Given the description of an element on the screen output the (x, y) to click on. 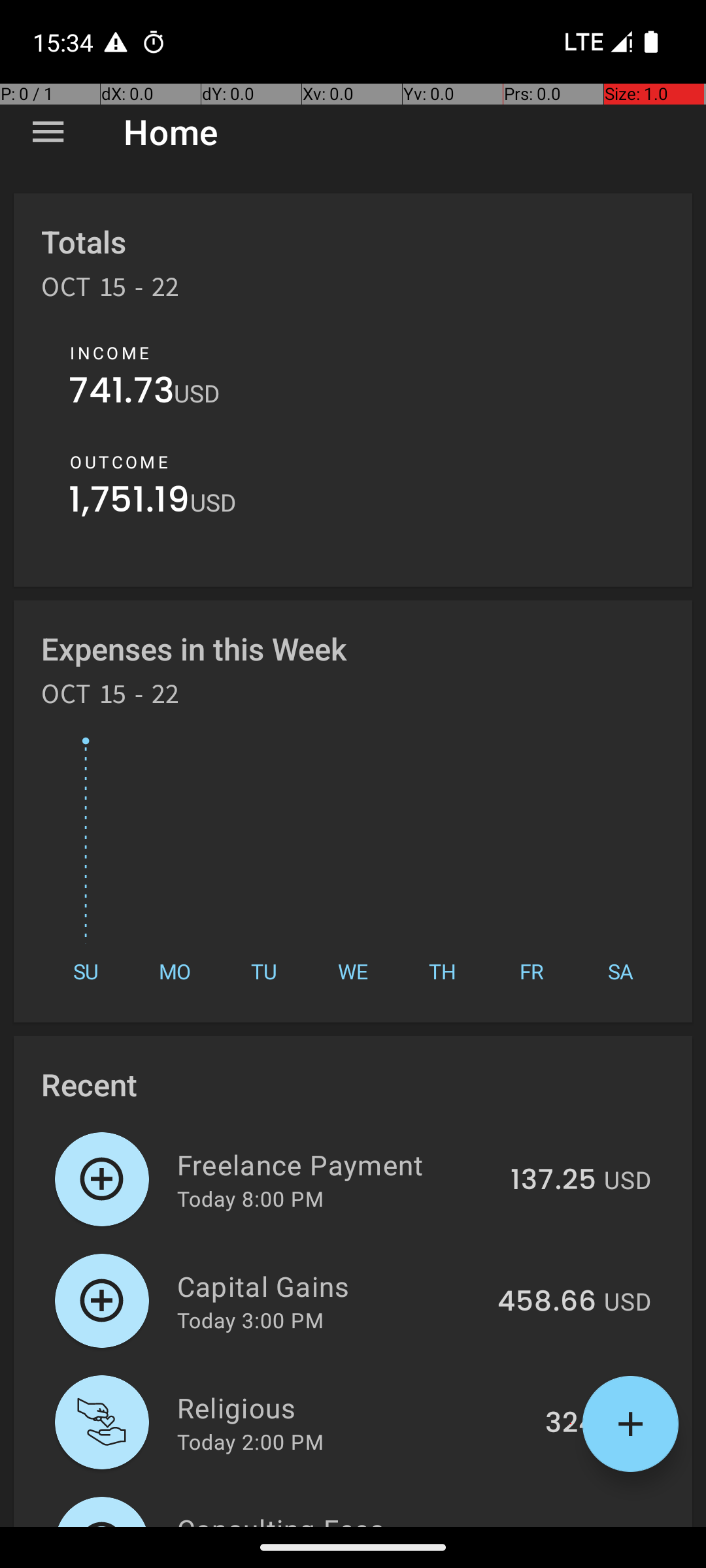
741.73 Element type: android.widget.TextView (120, 393)
1,751.19 Element type: android.widget.TextView (129, 502)
Freelance Payment Element type: android.widget.TextView (336, 1164)
Today 8:00 PM Element type: android.widget.TextView (250, 1198)
137.25 Element type: android.widget.TextView (552, 1180)
Capital Gains Element type: android.widget.TextView (329, 1285)
Today 3:00 PM Element type: android.widget.TextView (250, 1320)
458.66 Element type: android.widget.TextView (546, 1301)
Religious Element type: android.widget.TextView (353, 1407)
Today 2:00 PM Element type: android.widget.TextView (250, 1441)
324 Element type: android.widget.TextView (570, 1423)
Consulting Fees Element type: android.widget.TextView (334, 1518)
145.82 Element type: android.widget.TextView (551, 1524)
